Given the description of an element on the screen output the (x, y) to click on. 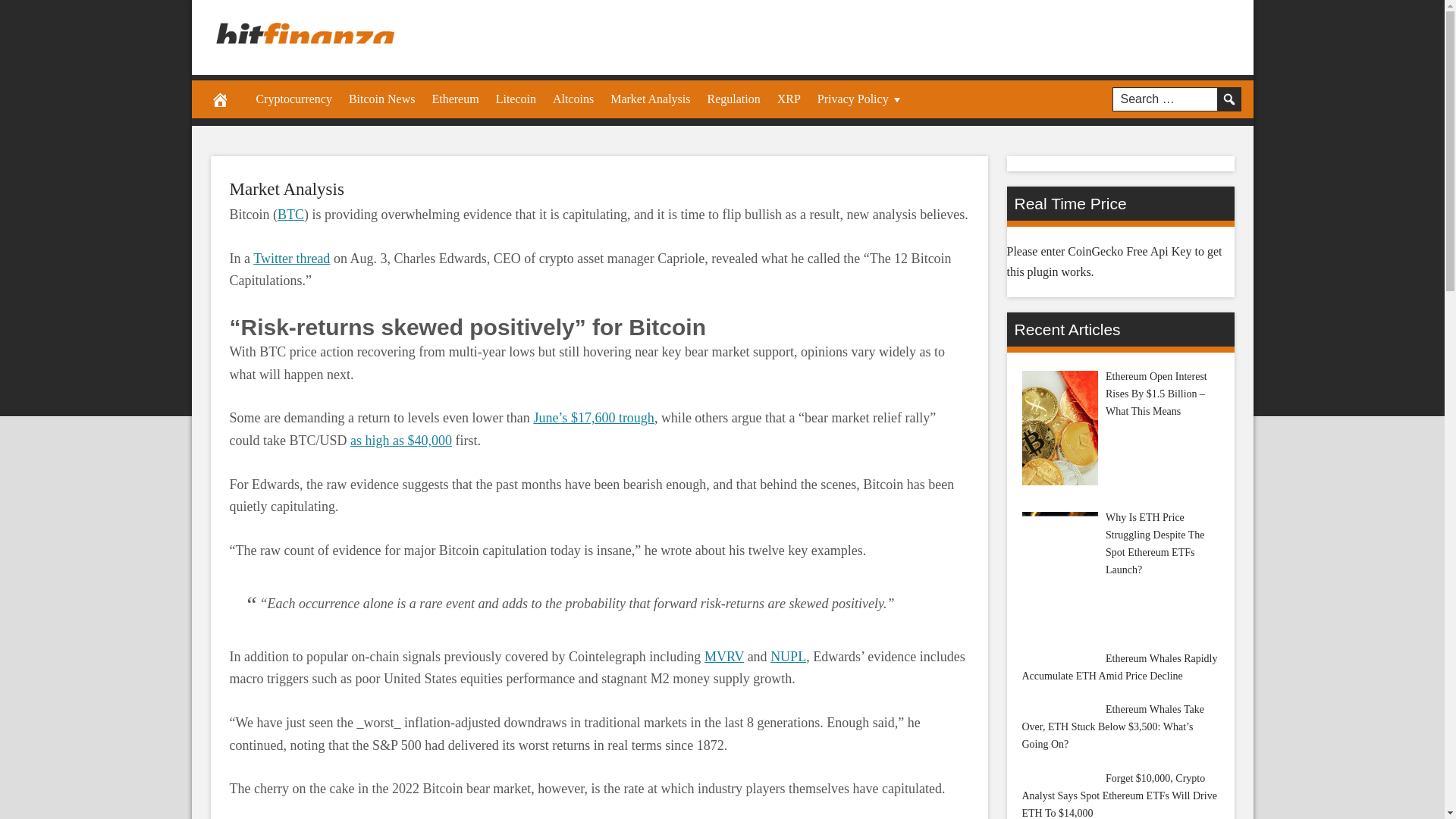
Ethereum (454, 98)
NUPL (788, 656)
Bitcoin News (381, 98)
Market Analysis (650, 98)
Litecoin (515, 98)
MVRV (724, 656)
Regulation (733, 98)
XRP (788, 98)
Twitter thread (291, 258)
Market Analysis (285, 189)
Market Analysis (285, 189)
Altcoins (573, 98)
Cryptocurrency (293, 98)
BTC (291, 214)
Privacy Policy (860, 98)
